Given the description of an element on the screen output the (x, y) to click on. 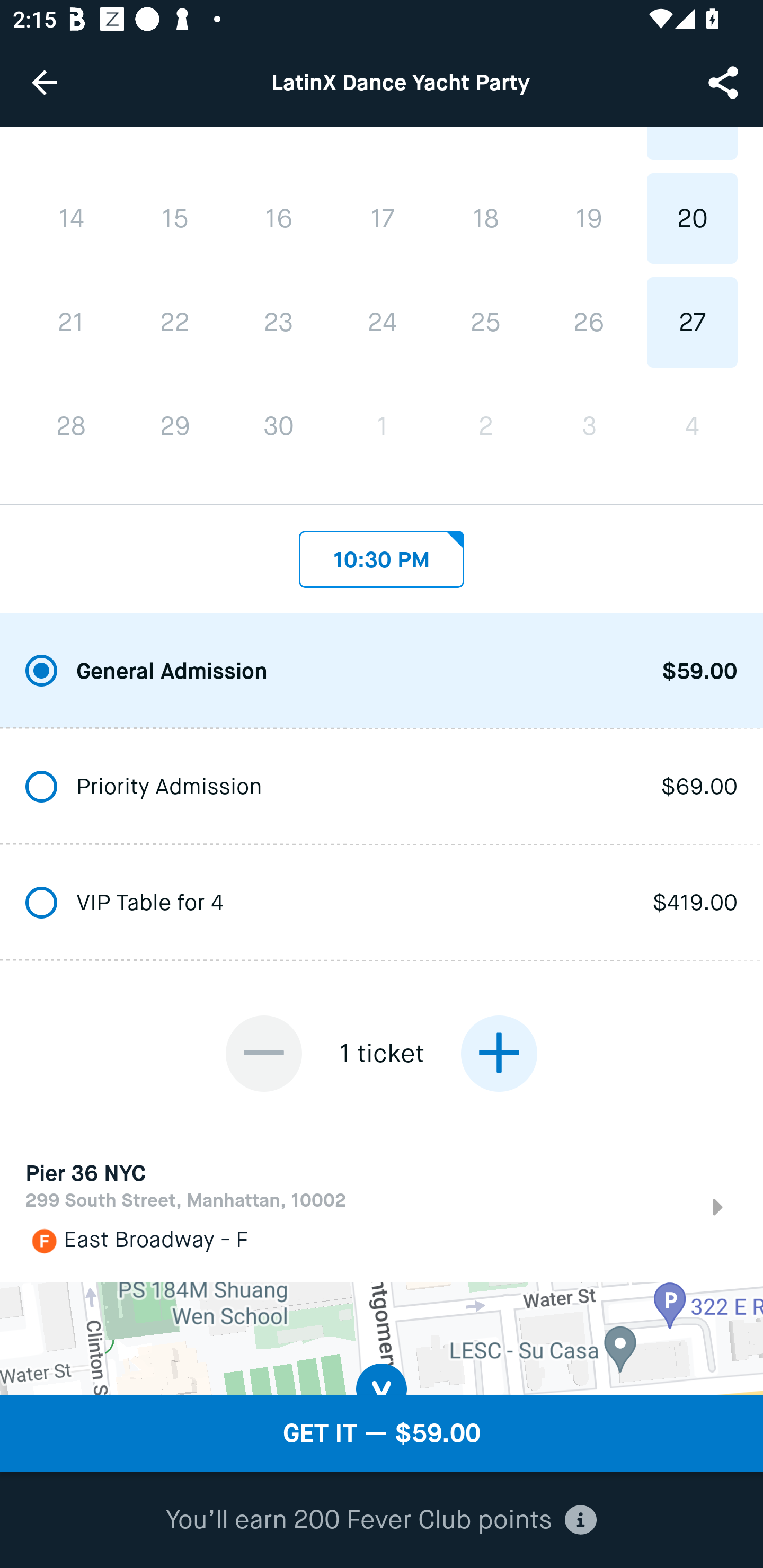
Navigate up (44, 82)
Share (724, 81)
14 (70, 218)
15 (174, 218)
16 (278, 218)
17 (382, 217)
18 (485, 217)
19 (588, 217)
20 (692, 217)
21 (70, 322)
22 (174, 322)
23 (278, 322)
24 (382, 321)
25 (485, 321)
26 (588, 321)
27 (692, 321)
28 (70, 426)
29 (174, 426)
30 (278, 426)
1 (382, 426)
2 (485, 426)
3 (588, 426)
4 (692, 426)
10:30 PM (381, 554)
General Admission $59.00 (381, 671)
Priority Admission $69.00 (381, 787)
VIP Table for 4 $419.00 (381, 903)
decrease (263, 1053)
increase (498, 1053)
Google Map Map Marker (381, 1338)
GET IT — $59.00 (381, 1433)
You’ll earn 200 Fever Club points (380, 1519)
